Given the description of an element on the screen output the (x, y) to click on. 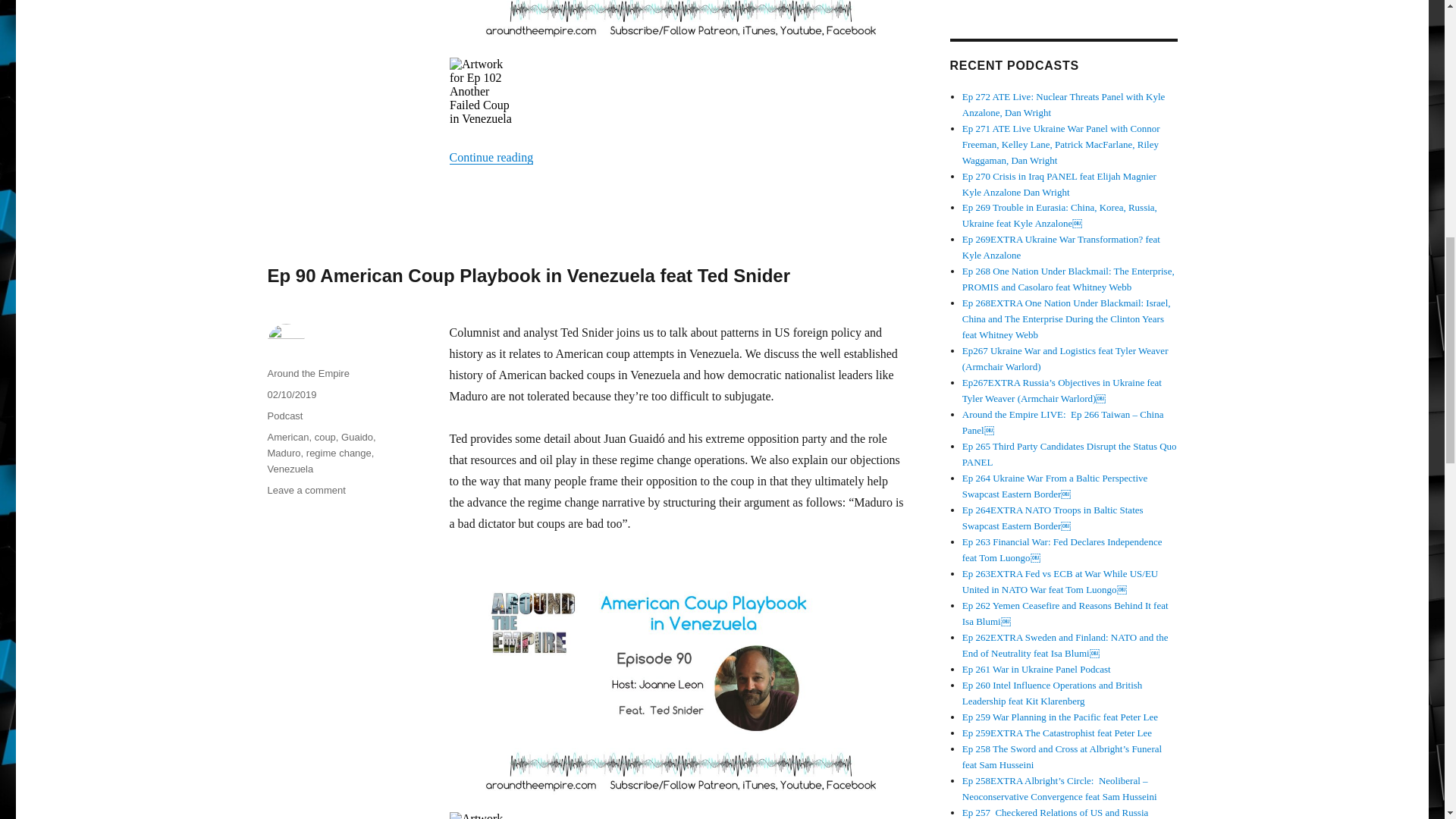
Venezuela (289, 469)
Guaido (356, 437)
American (287, 437)
Maduro (282, 452)
Around the Empire (307, 373)
coup (325, 437)
regime change (338, 452)
Ep 90 American Coup Playbook in Venezuela feat Ted Snider (528, 275)
Podcast (284, 415)
